Given the description of an element on the screen output the (x, y) to click on. 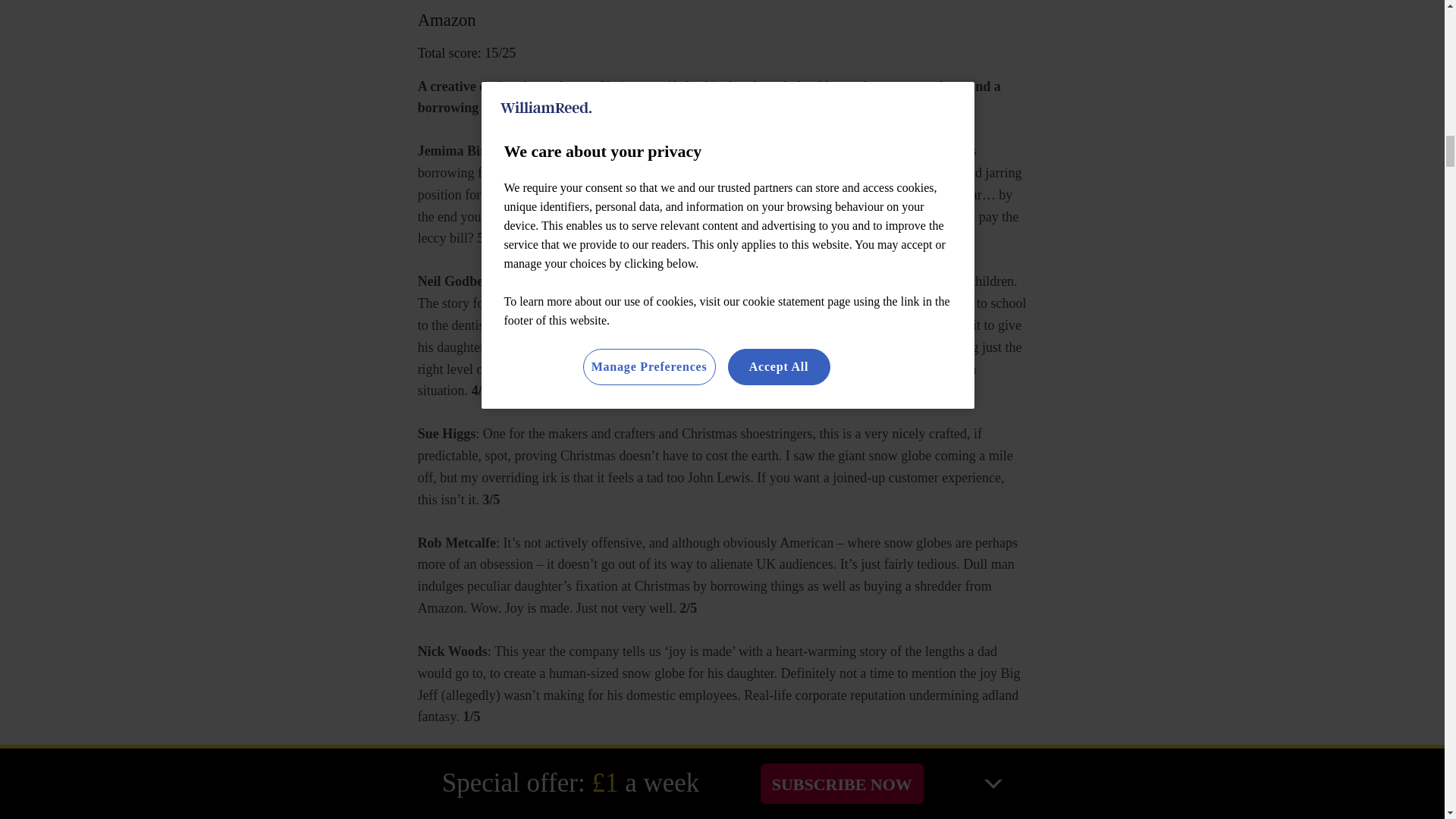
Argos Christmas Advert 2022 Extended Edition  (722, 784)
